Given the description of an element on the screen output the (x, y) to click on. 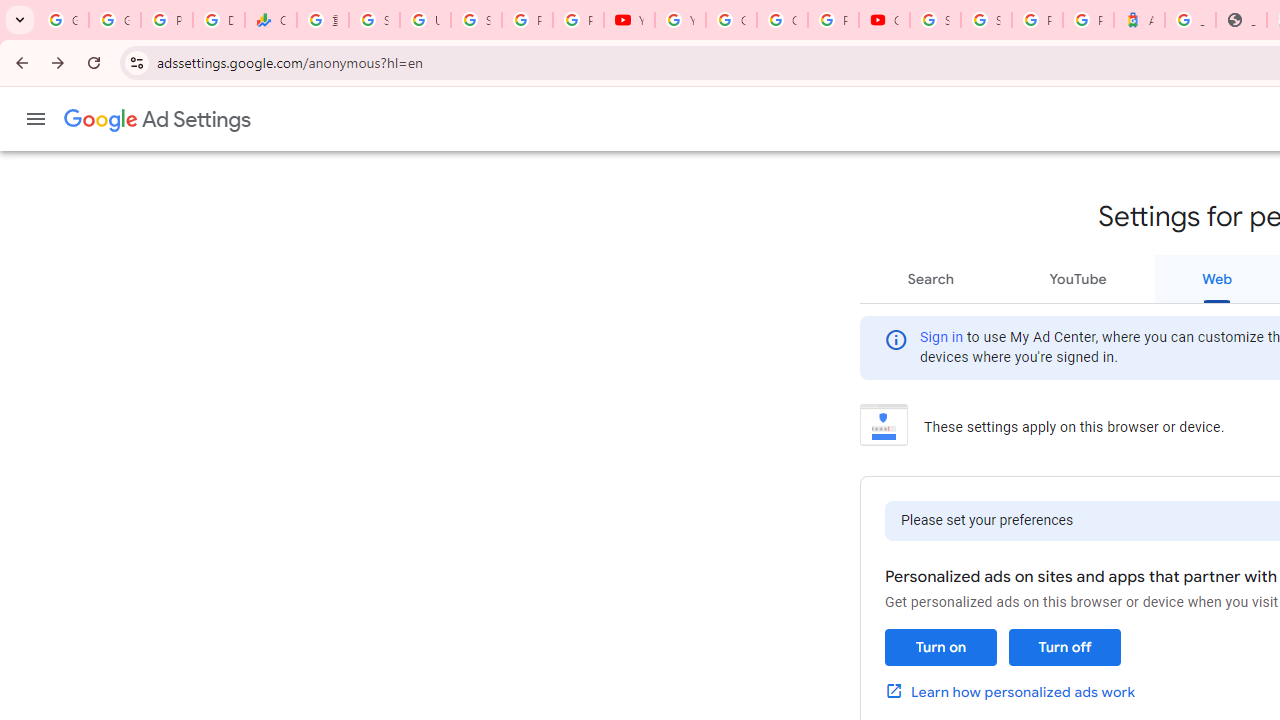
Sign in - Google Accounts (475, 20)
Sign in (941, 337)
Content Creator Programs & Opportunities - YouTube Creators (884, 20)
Web (1217, 278)
Sign in - Google Accounts (986, 20)
Reload (93, 62)
Atour Hotel - Google hotels (1138, 20)
